Given the description of an element on the screen output the (x, y) to click on. 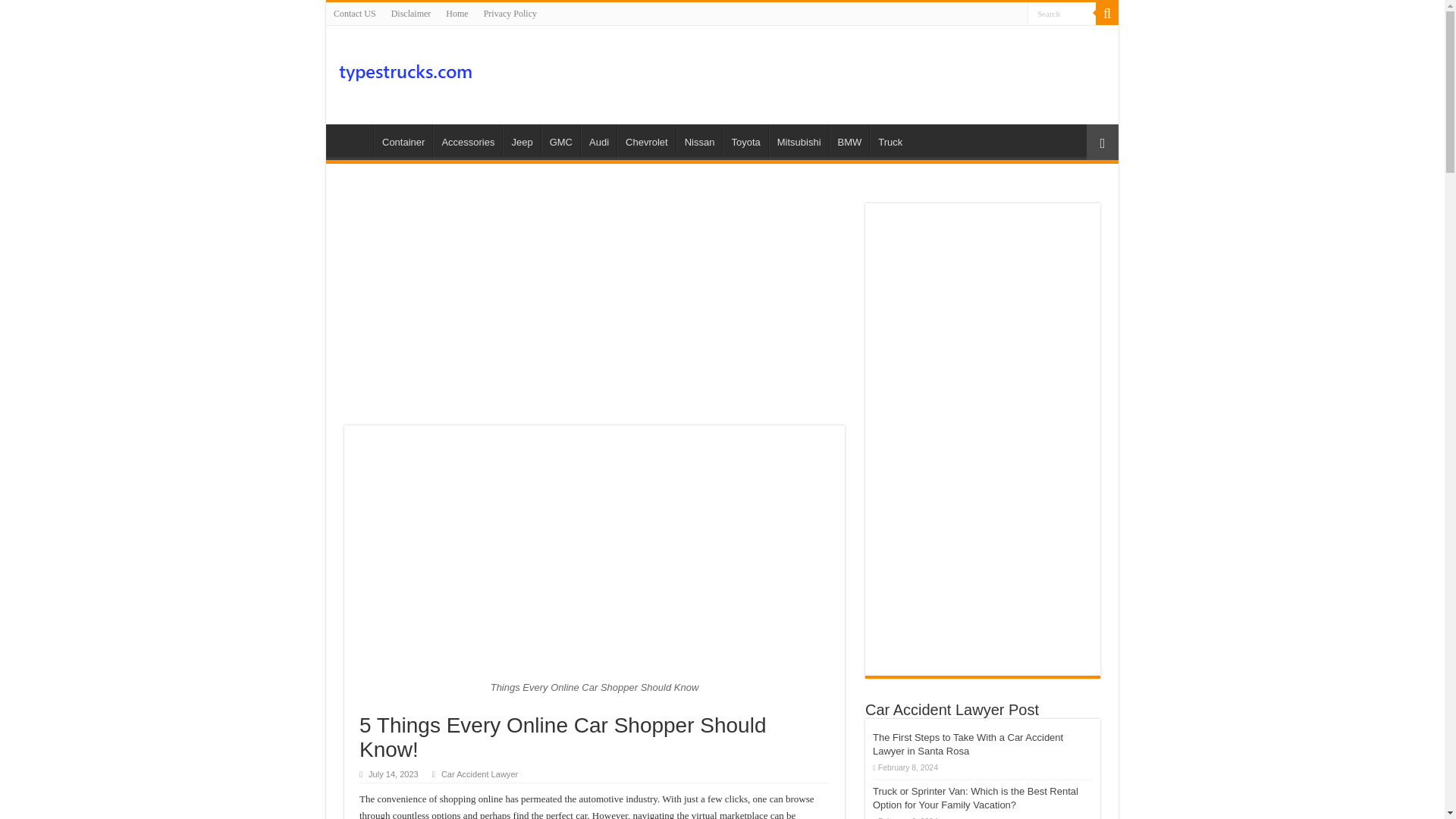
Truck (889, 140)
Search (1061, 13)
Privacy Policy (510, 13)
Disclaimer (411, 13)
Home (352, 140)
Search (1061, 13)
Random Article (1102, 141)
Contact US (355, 13)
Mitsubishi (798, 140)
